Given the description of an element on the screen output the (x, y) to click on. 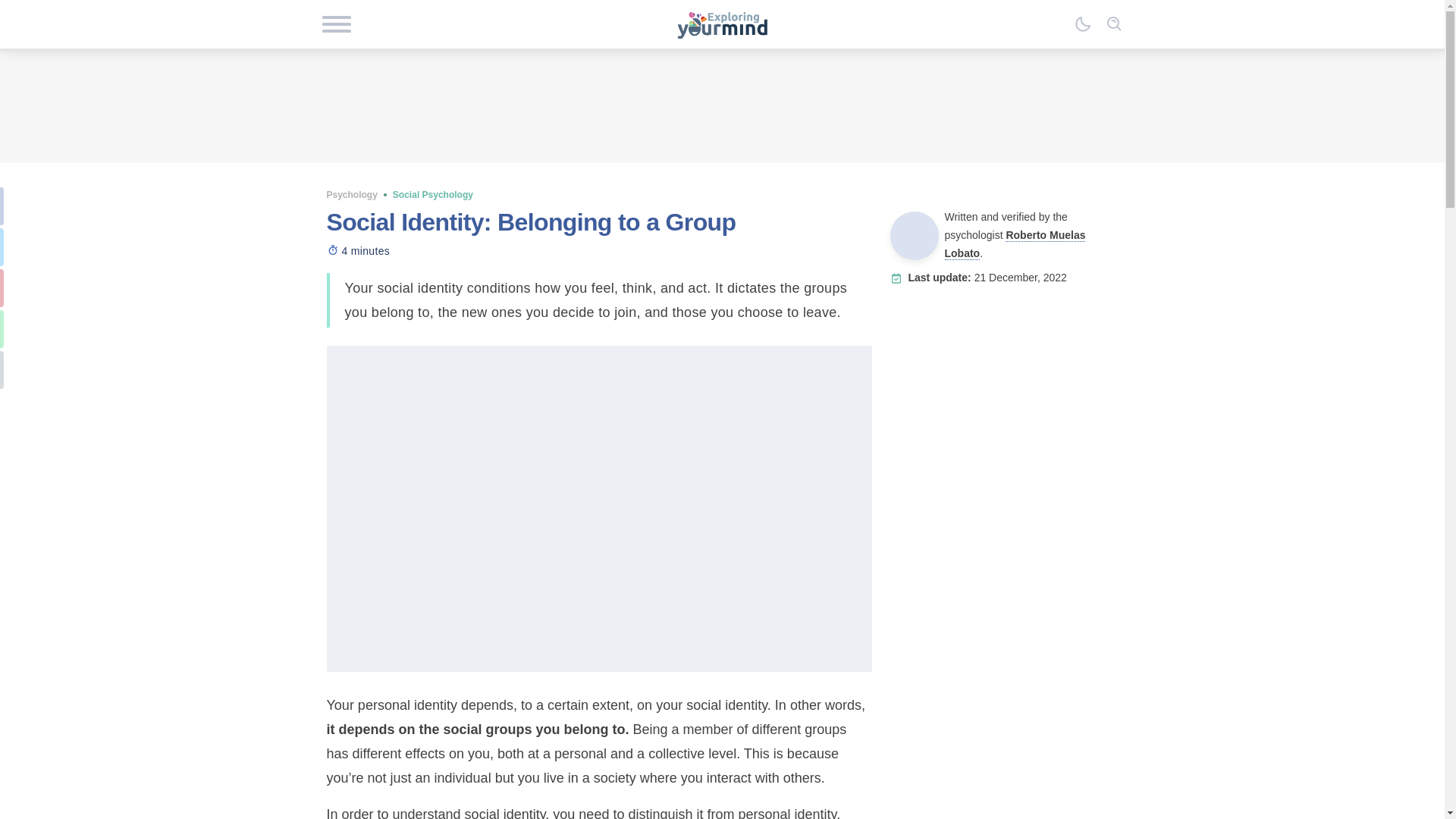
Psychology (351, 193)
Social Psychology (433, 193)
Roberto Muelas Lobato (1015, 244)
Psychology (351, 193)
Social Psychology (433, 193)
